Given the description of an element on the screen output the (x, y) to click on. 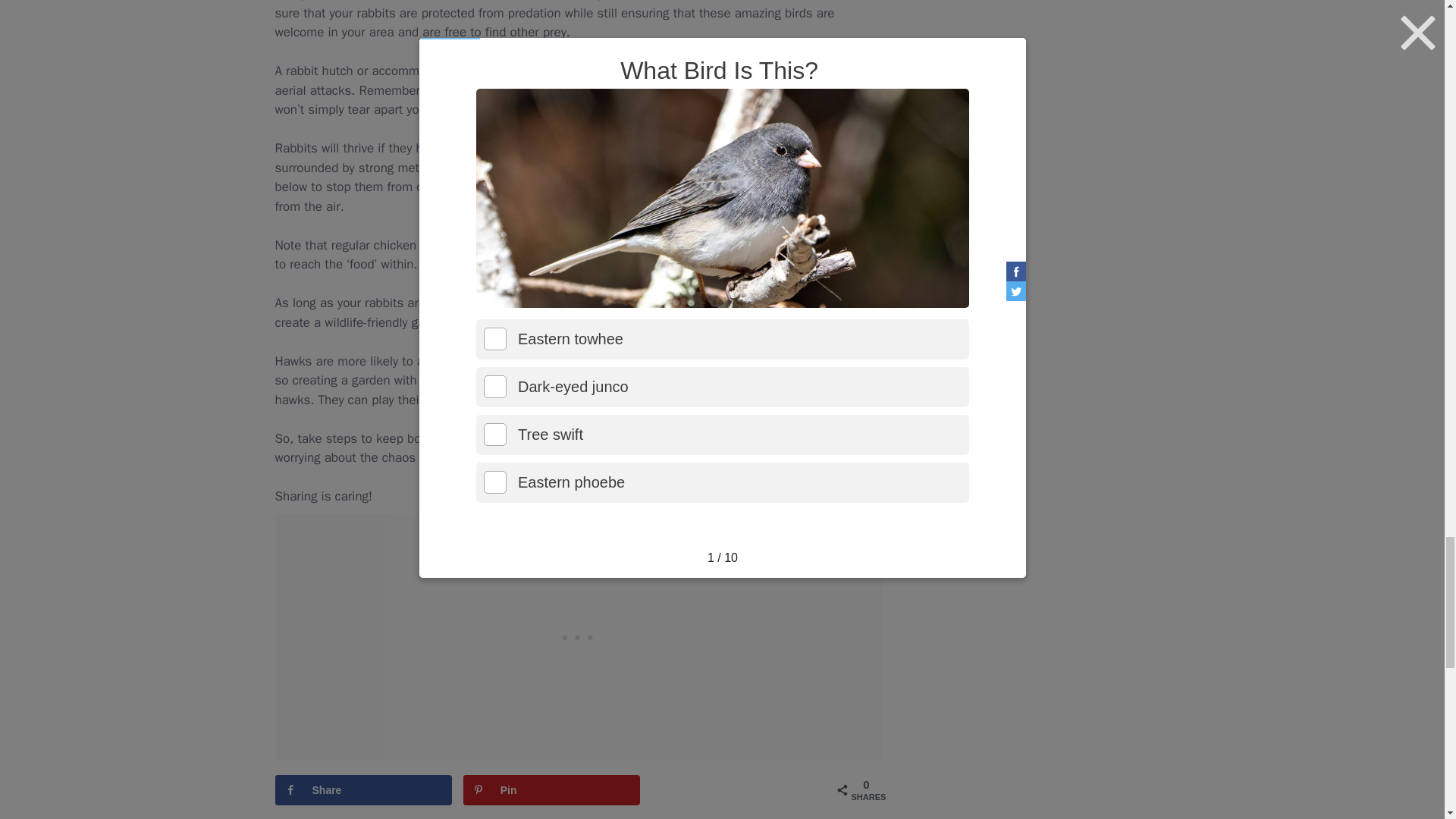
Share (363, 789)
Pin (551, 789)
Save to Pinterest (551, 789)
Share on Facebook (363, 789)
